Given the description of an element on the screen output the (x, y) to click on. 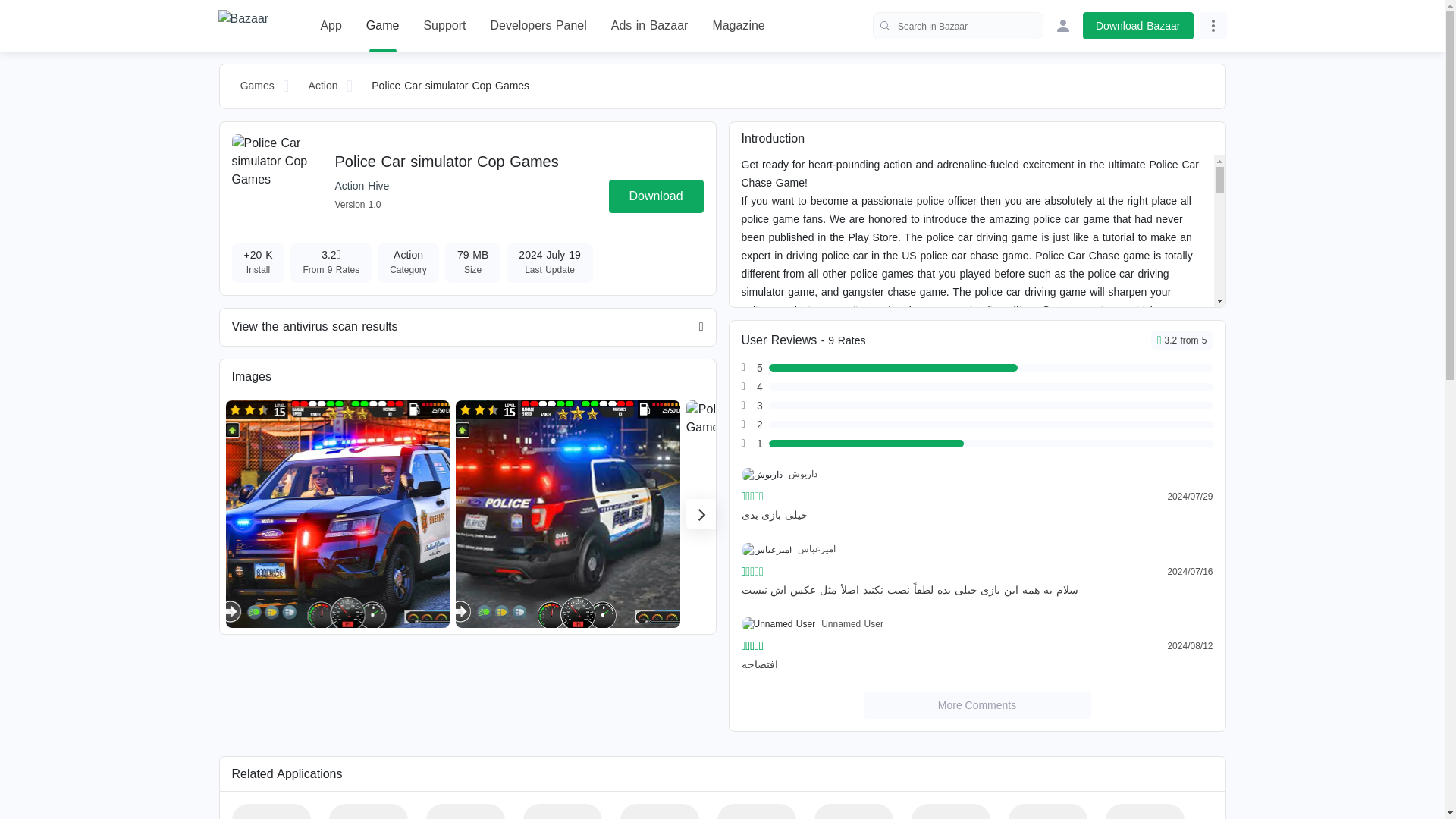
Download Bazaar (1138, 25)
Action (322, 86)
Download (655, 195)
Login to Bazaar (1063, 25)
Magazine (737, 25)
Developers Panel (537, 25)
Games (257, 86)
Ads in Bazaar (649, 25)
Settings Menu (1213, 25)
Support (444, 25)
